Given the description of an element on the screen output the (x, y) to click on. 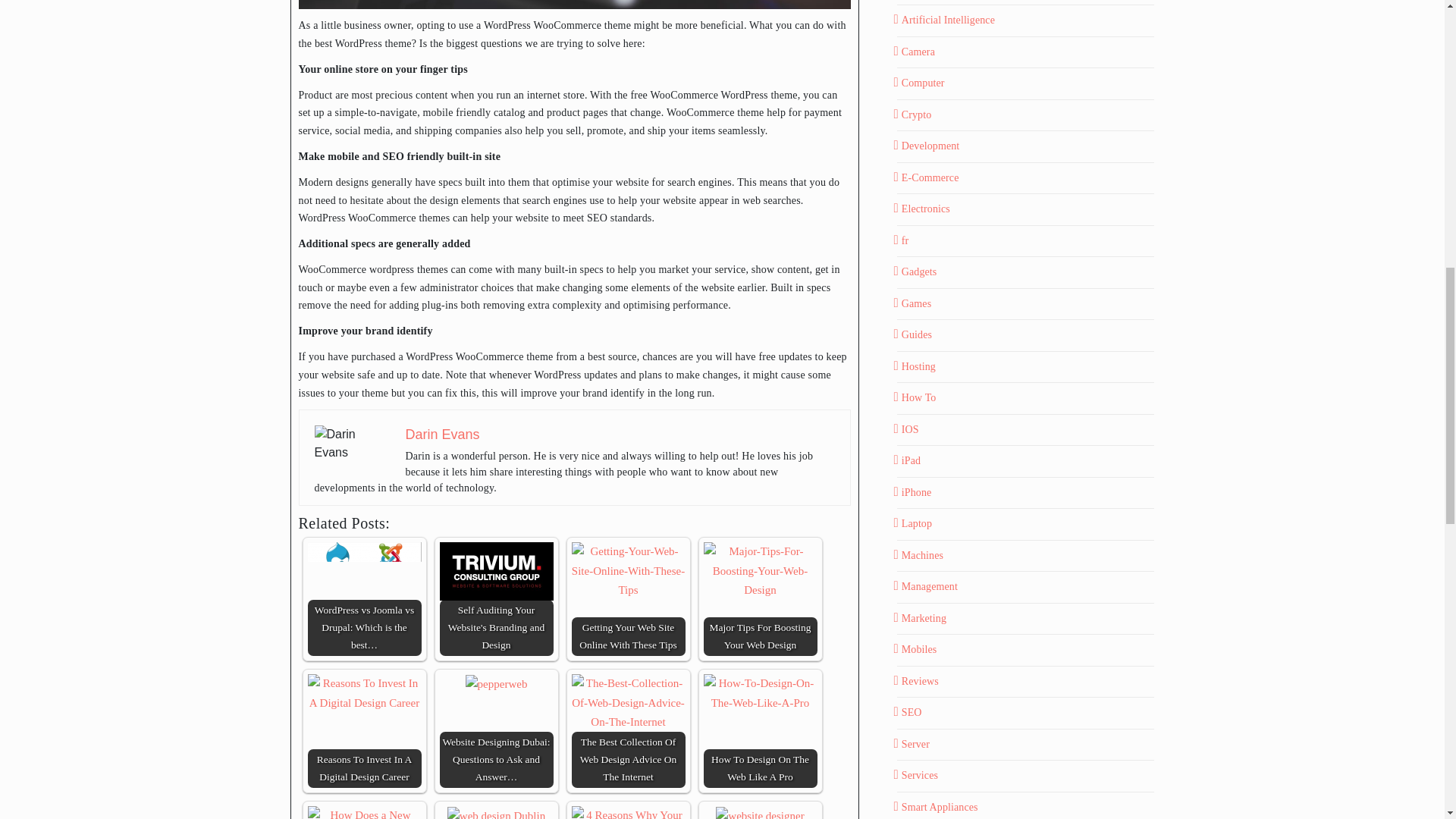
The Best Collection Of Web Design Advice On The Internet (628, 703)
Reasons To Invest In A Digital Design Career (364, 693)
How To Design On The Web Like A Pro (759, 693)
Self Auditing Your Website's Branding and Design (496, 571)
5 Signs It's Time To Redo Your Business Website (495, 812)
Major Tips For Boosting Your Web Design (759, 571)
blogging blur business 261662 (574, 4)
Darin Evans (352, 443)
How Does a New Website Design Benefit Your Business? (364, 812)
Darin Evans (441, 434)
Getting Your Web Site Online With These Tips (628, 571)
4 Reasons Why Your Business Should Have a Website (628, 812)
